Given the description of an element on the screen output the (x, y) to click on. 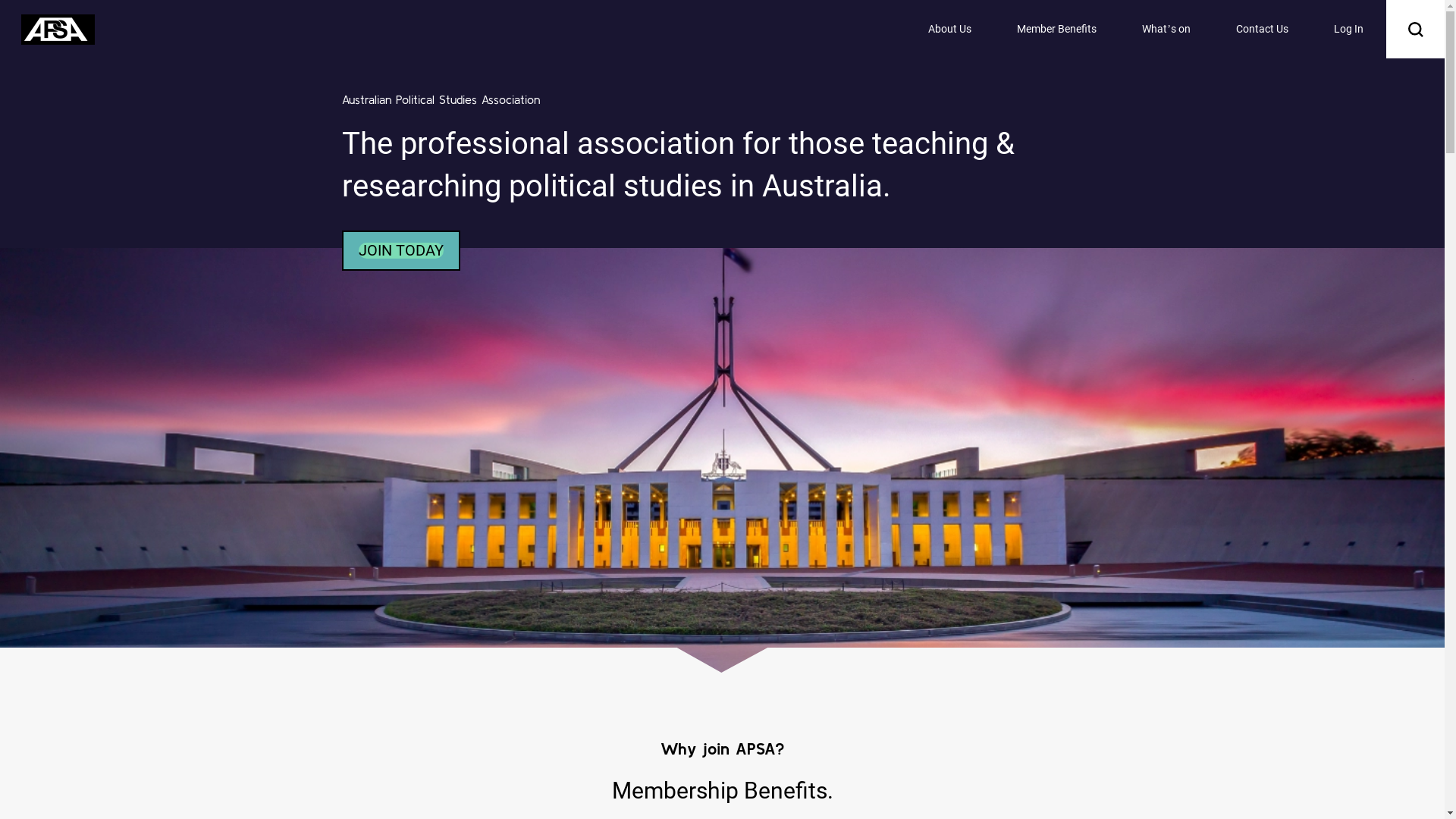
JOIN TODAY Element type: text (399, 249)
